Given the description of an element on the screen output the (x, y) to click on. 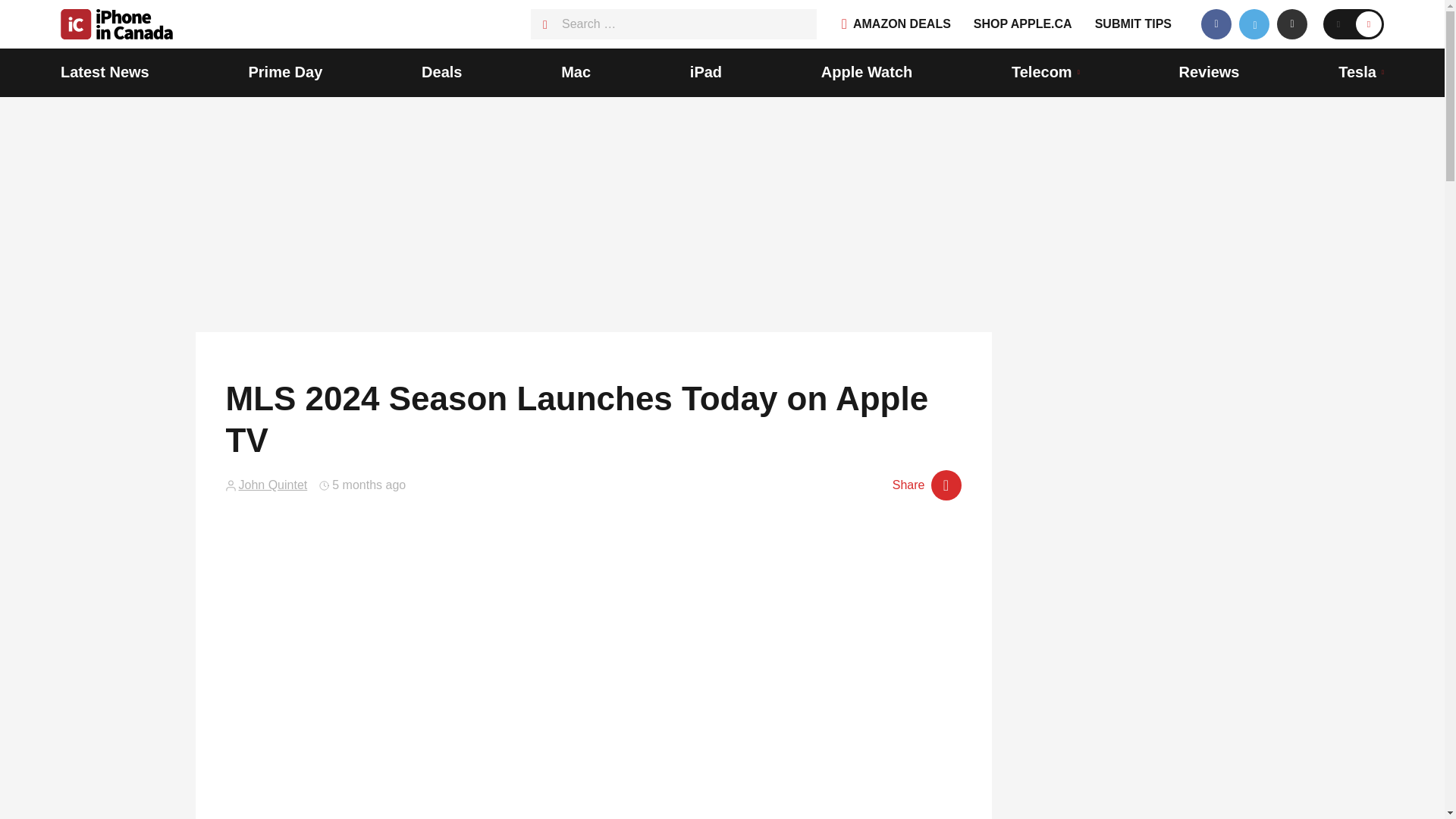
SHOP APPLE.CA (1022, 23)
Share (926, 485)
SUBMIT TIPS (1133, 23)
Latest News (105, 72)
John Quintet (272, 484)
Prime Day (284, 72)
Reviews (1208, 72)
AMAZON DEALS (895, 23)
Apple Watch (866, 72)
Search for: (673, 24)
